Given the description of an element on the screen output the (x, y) to click on. 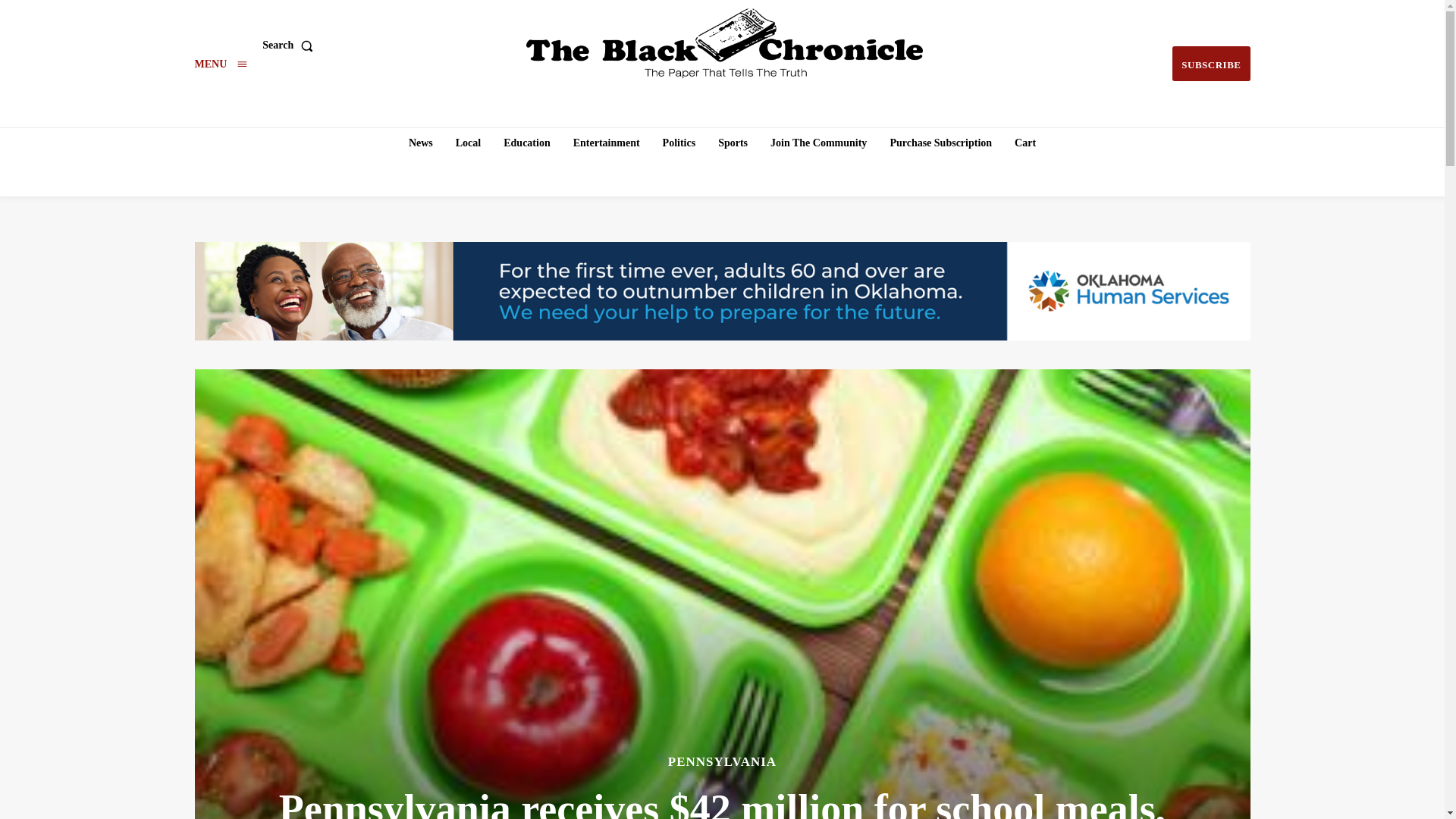
Menu (220, 63)
The Black Chronicle (724, 43)
Subscribe (1210, 63)
